Given the description of an element on the screen output the (x, y) to click on. 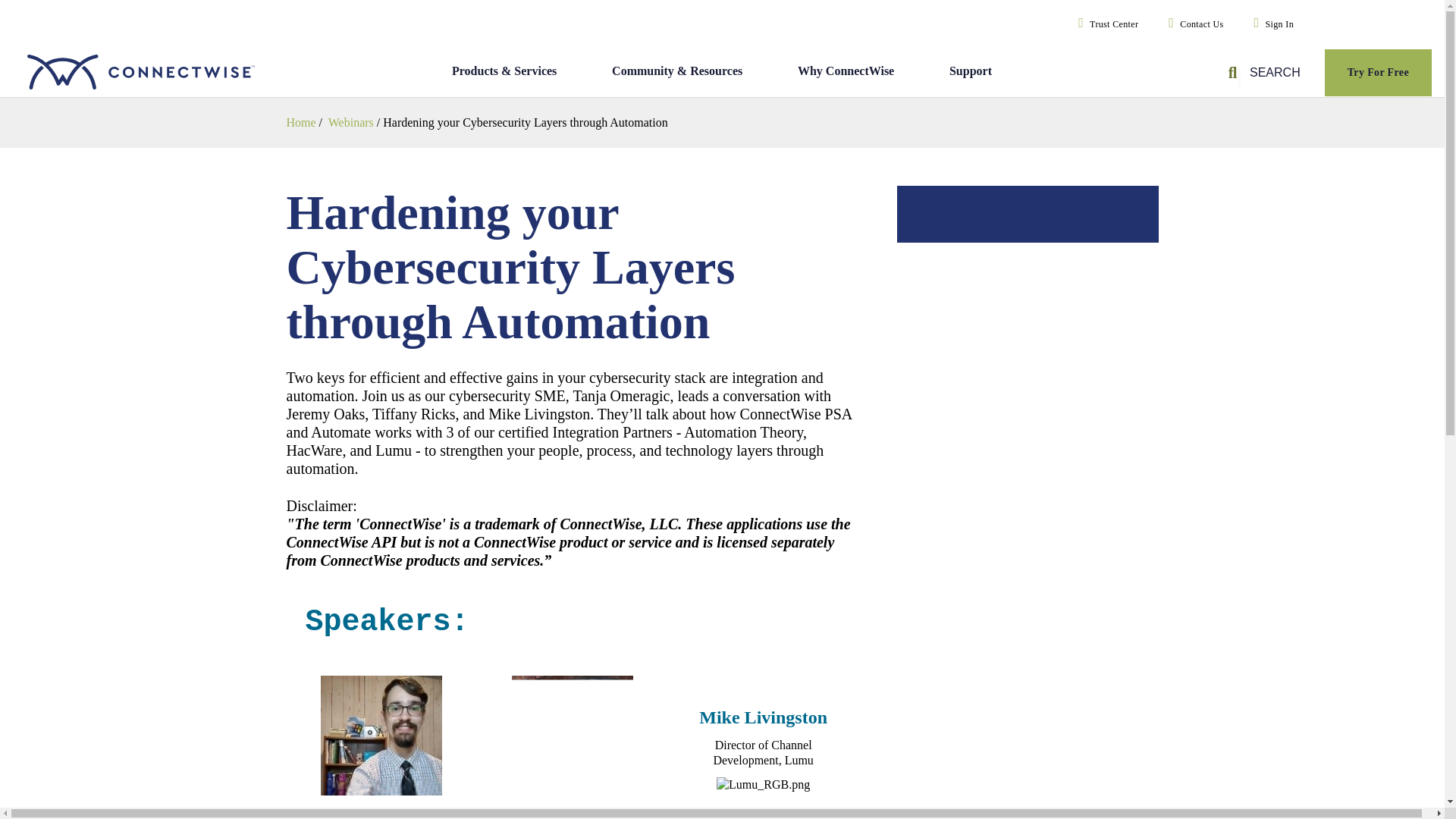
Trust Center (1104, 24)
Contact Us (1192, 24)
Try For Free (1377, 72)
Contact Us (1192, 24)
Sign In (1270, 24)
ConnectWise Logo (155, 72)
SEARCH (1266, 72)
Trust Center (1104, 24)
Sign In (1270, 24)
